Given the description of an element on the screen output the (x, y) to click on. 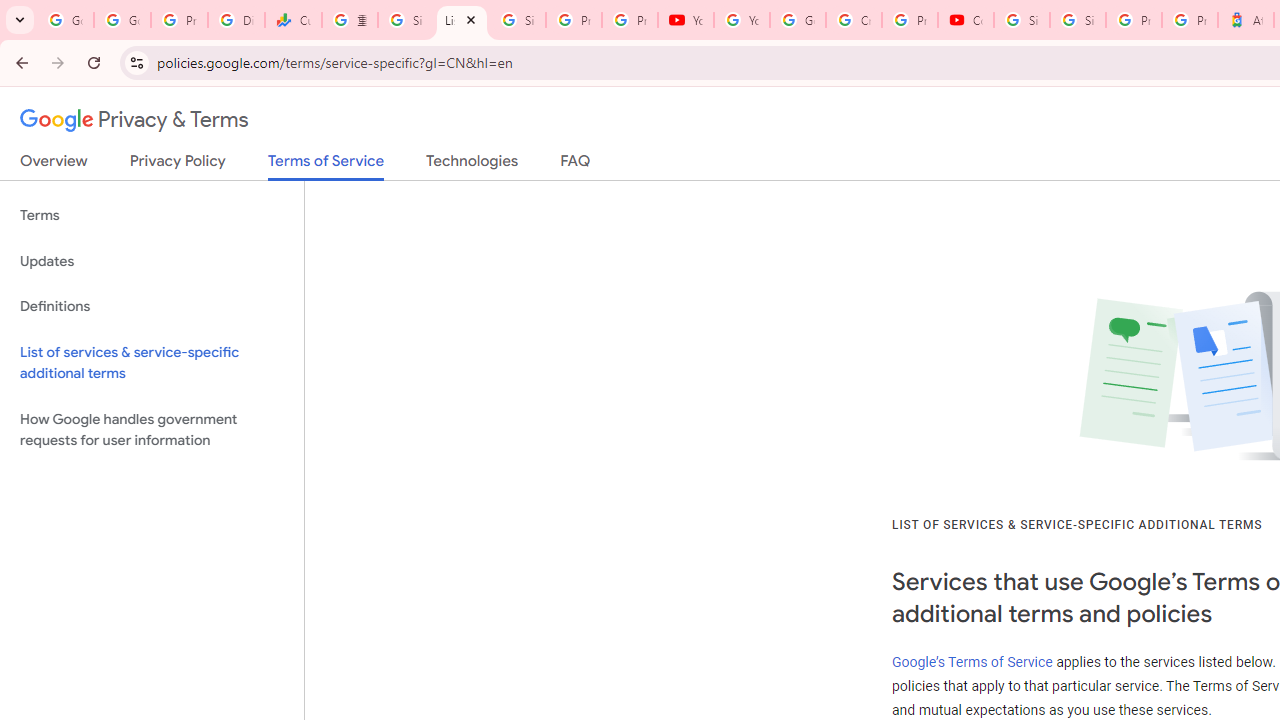
YouTube (742, 20)
Create your Google Account (853, 20)
Sign in - Google Accounts (1077, 20)
